Given the description of an element on the screen output the (x, y) to click on. 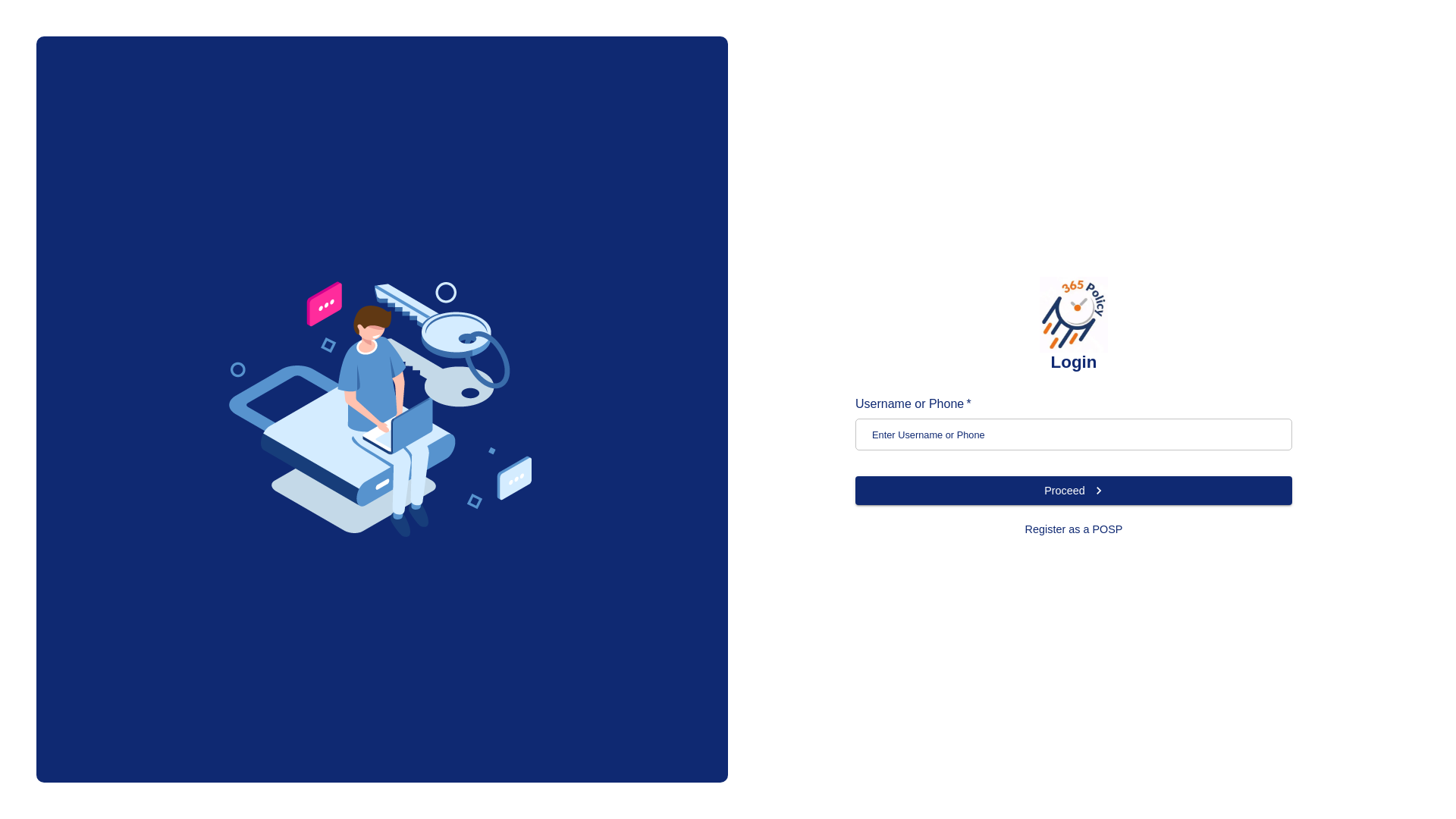
Register as a POSP Element type: text (1073, 529)
Proceed Element type: text (1073, 490)
